Given the description of an element on the screen output the (x, y) to click on. 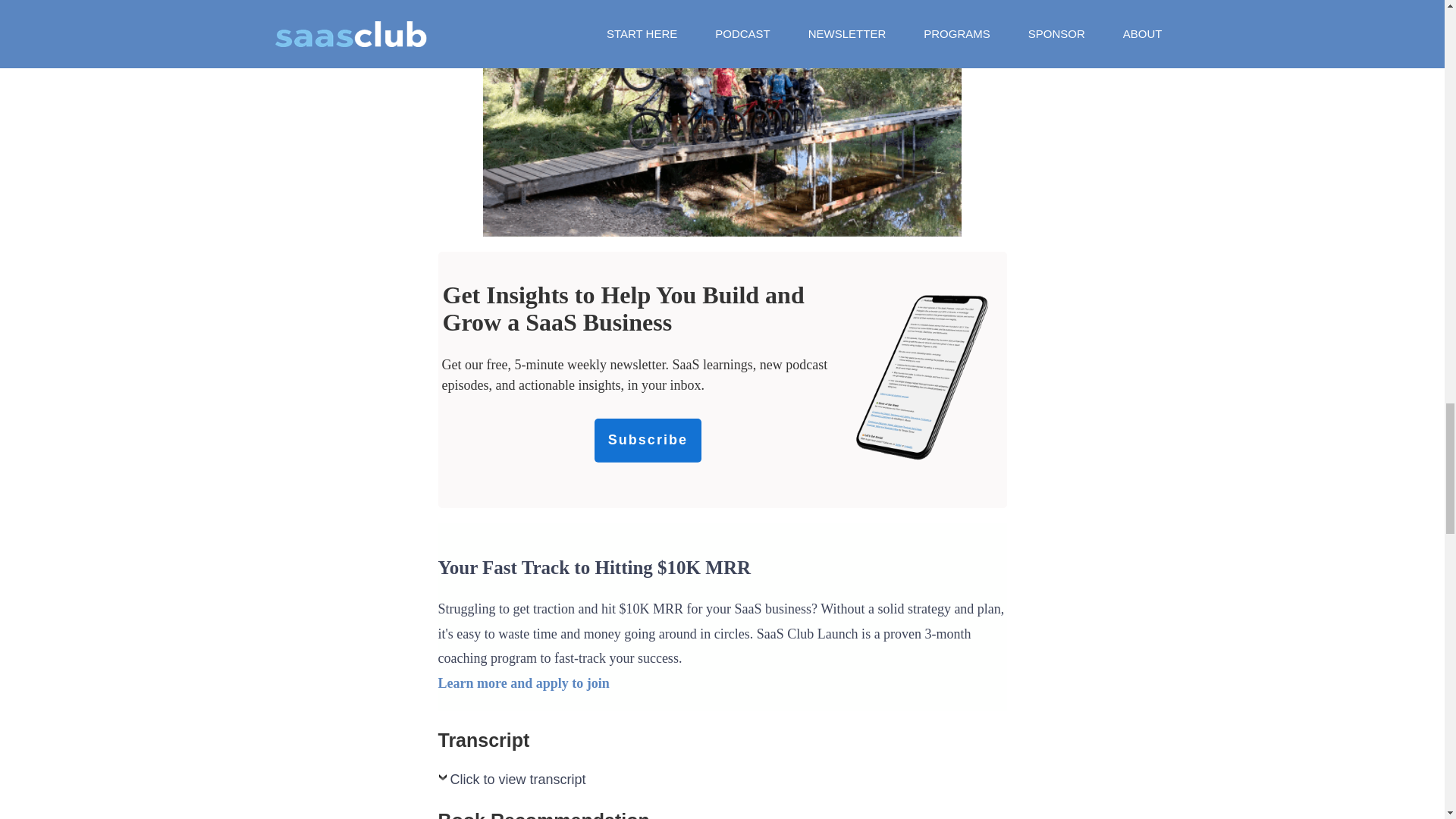
iphone-newsletter (922, 375)
Click to view transcript (512, 783)
Learn more and apply to join (524, 683)
Subscribe (647, 440)
